Given the description of an element on the screen output the (x, y) to click on. 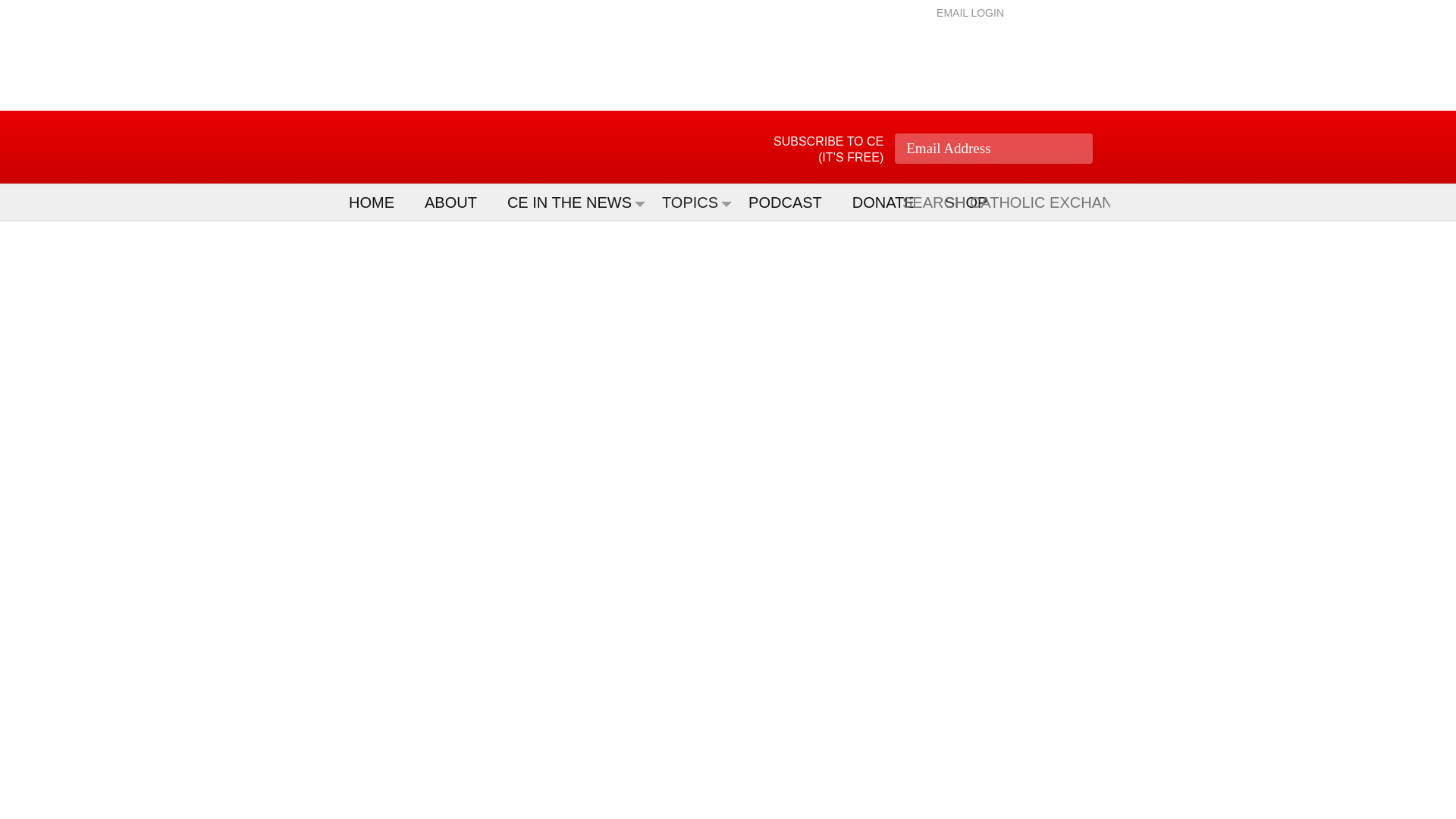
CE IN THE NEWS (576, 201)
SHOP (973, 201)
ABOUT (458, 201)
Catholic Exchange (435, 146)
PODCAST (792, 201)
EMAIL LOGIN (970, 12)
DONATE (890, 201)
HOME (379, 201)
